Given the description of an element on the screen output the (x, y) to click on. 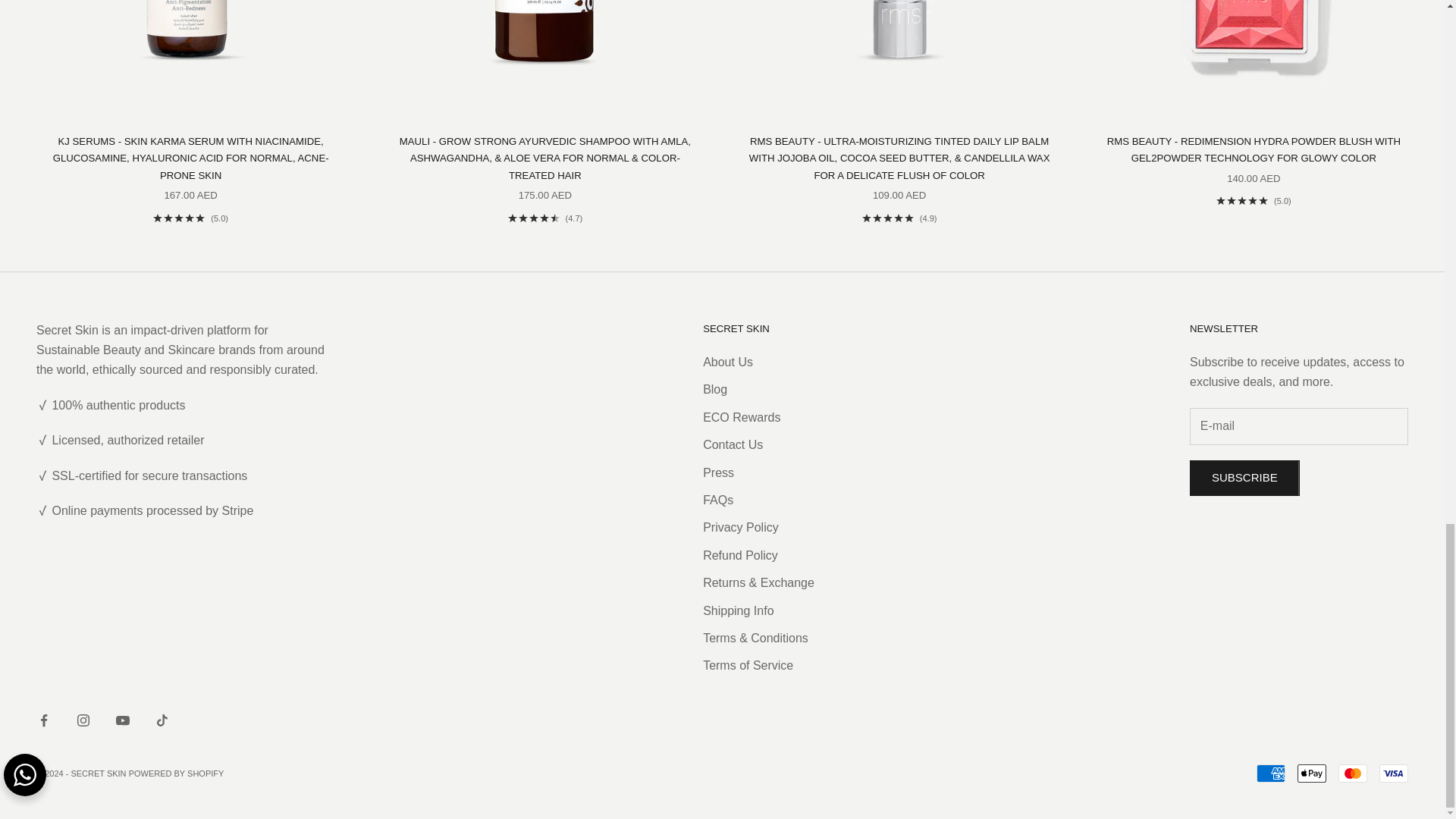
38 reviews (545, 217)
1050 reviews (899, 217)
2 reviews (1253, 200)
3 reviews (190, 217)
